Given the description of an element on the screen output the (x, y) to click on. 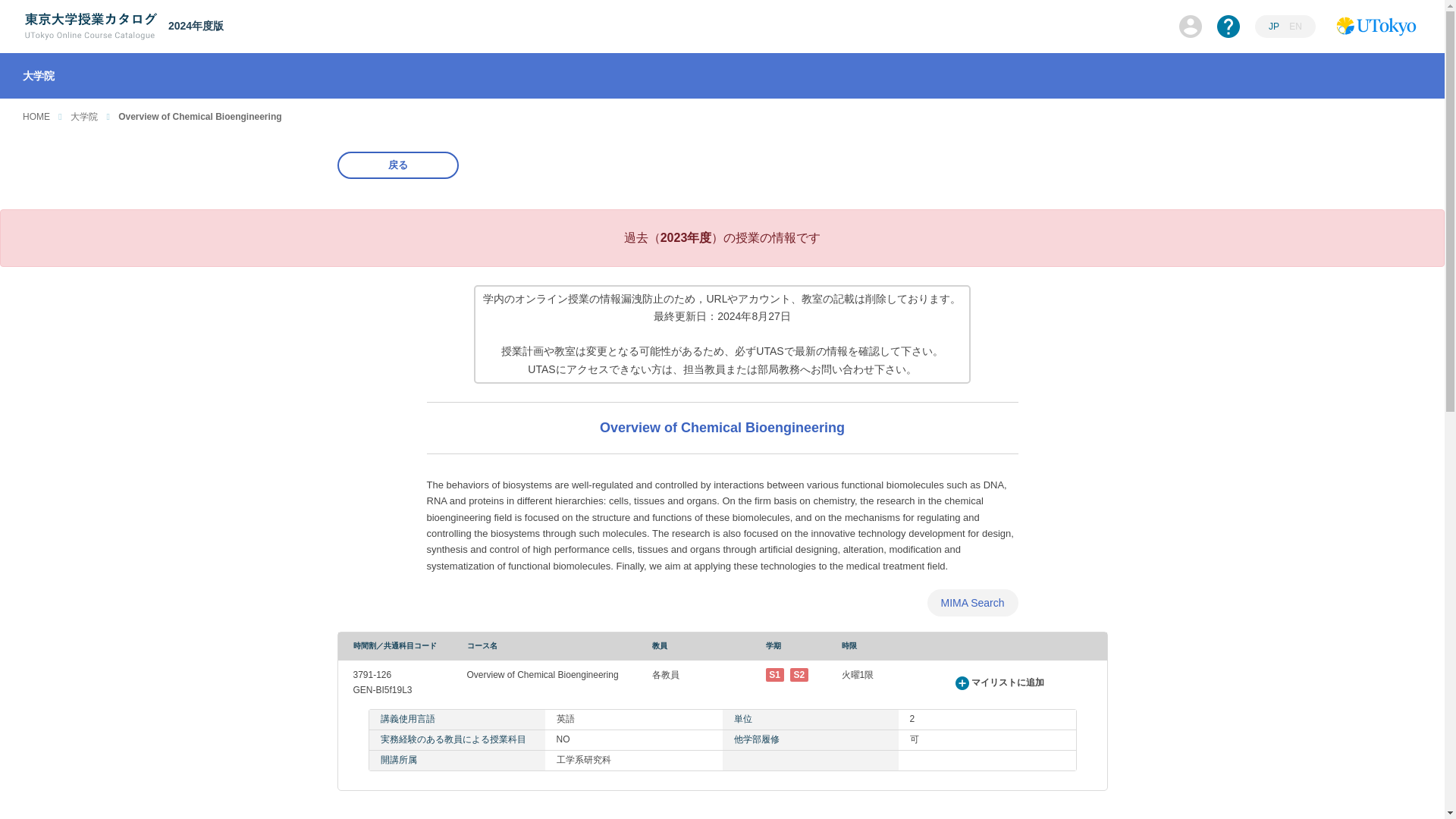
JP (1273, 26)
HOME (36, 116)
EN (1294, 26)
